Given the description of an element on the screen output the (x, y) to click on. 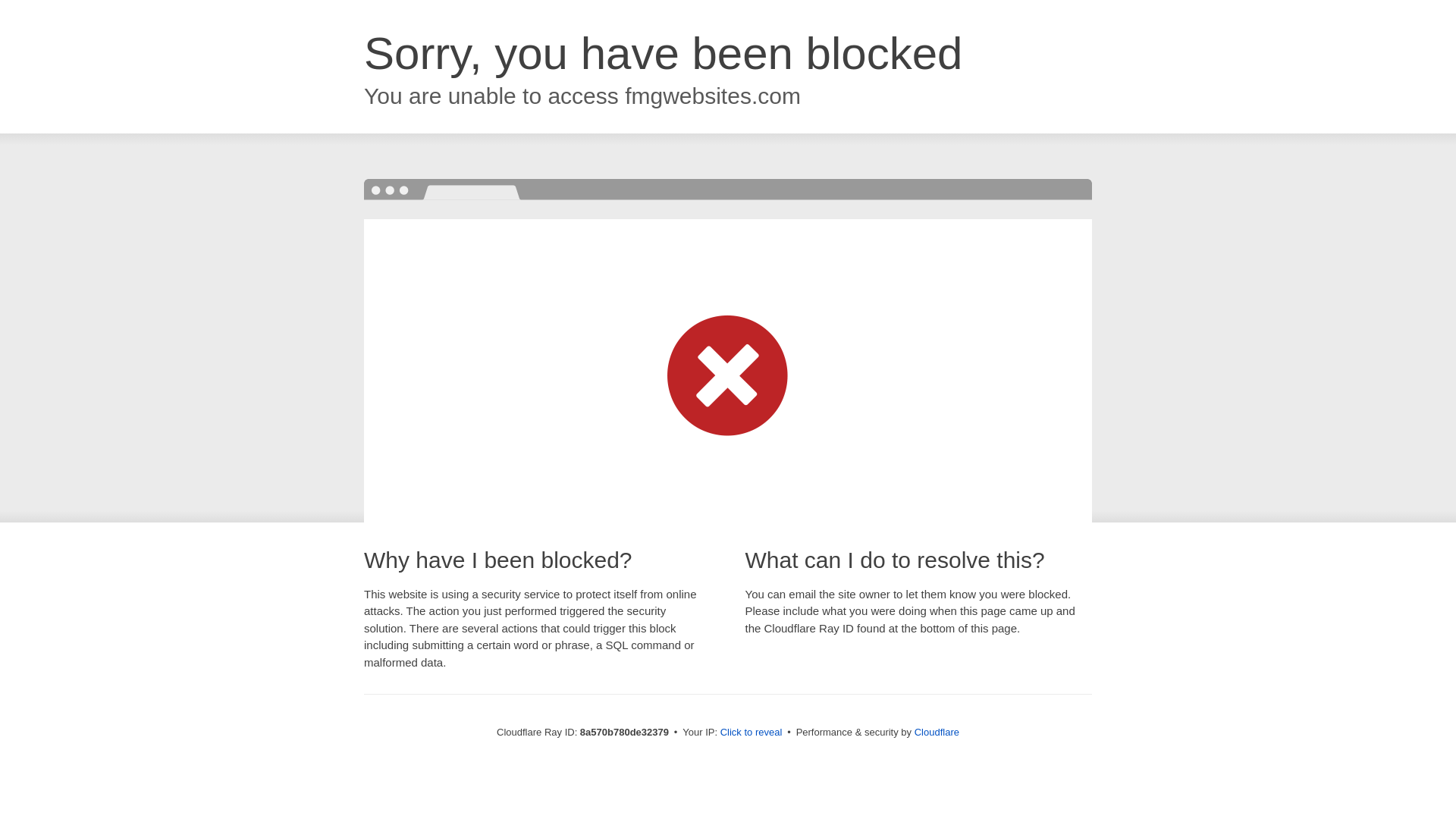
Click to reveal (751, 732)
Cloudflare (936, 731)
